Given the description of an element on the screen output the (x, y) to click on. 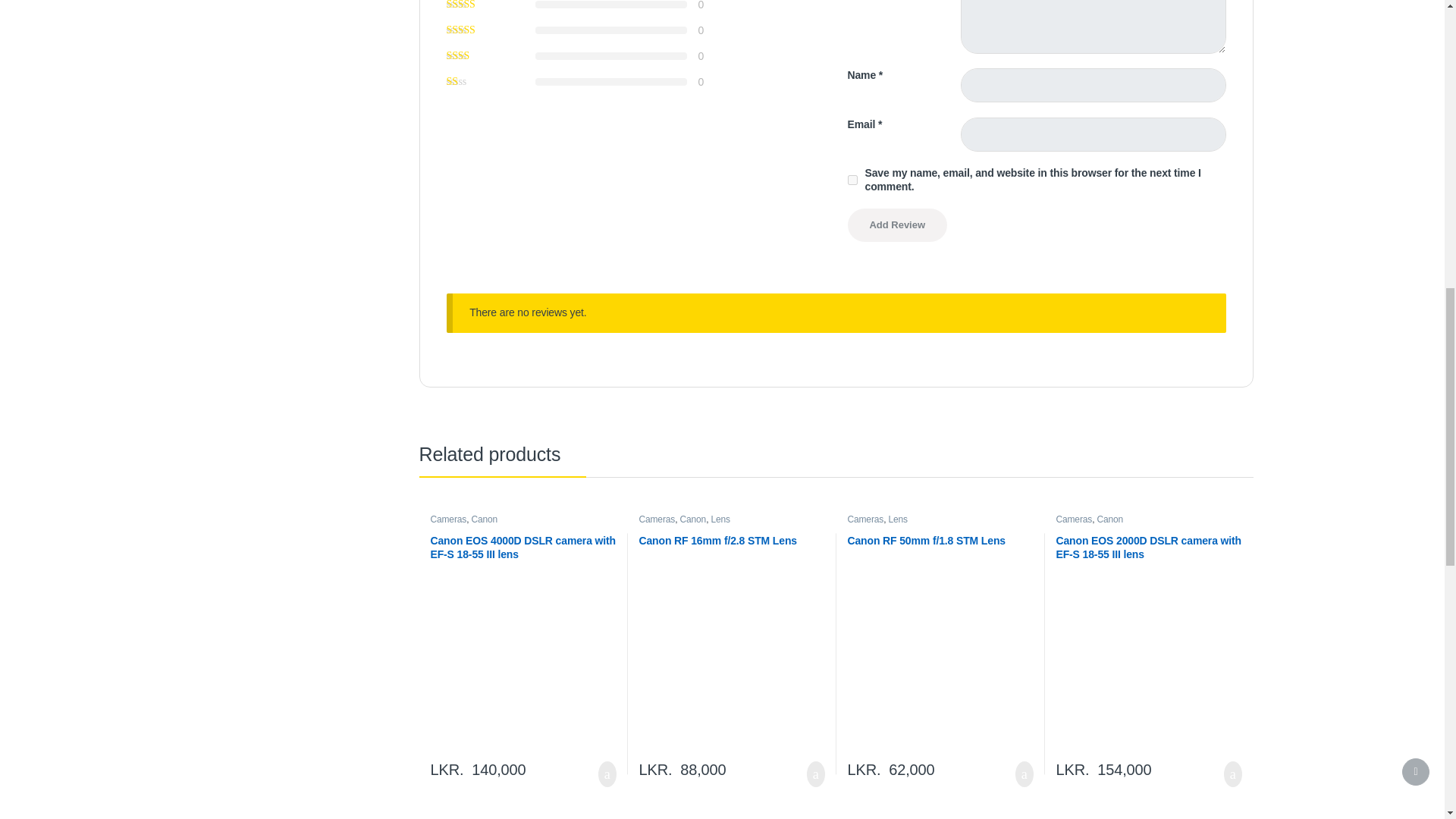
yes (852, 180)
Add Review (897, 224)
